Given the description of an element on the screen output the (x, y) to click on. 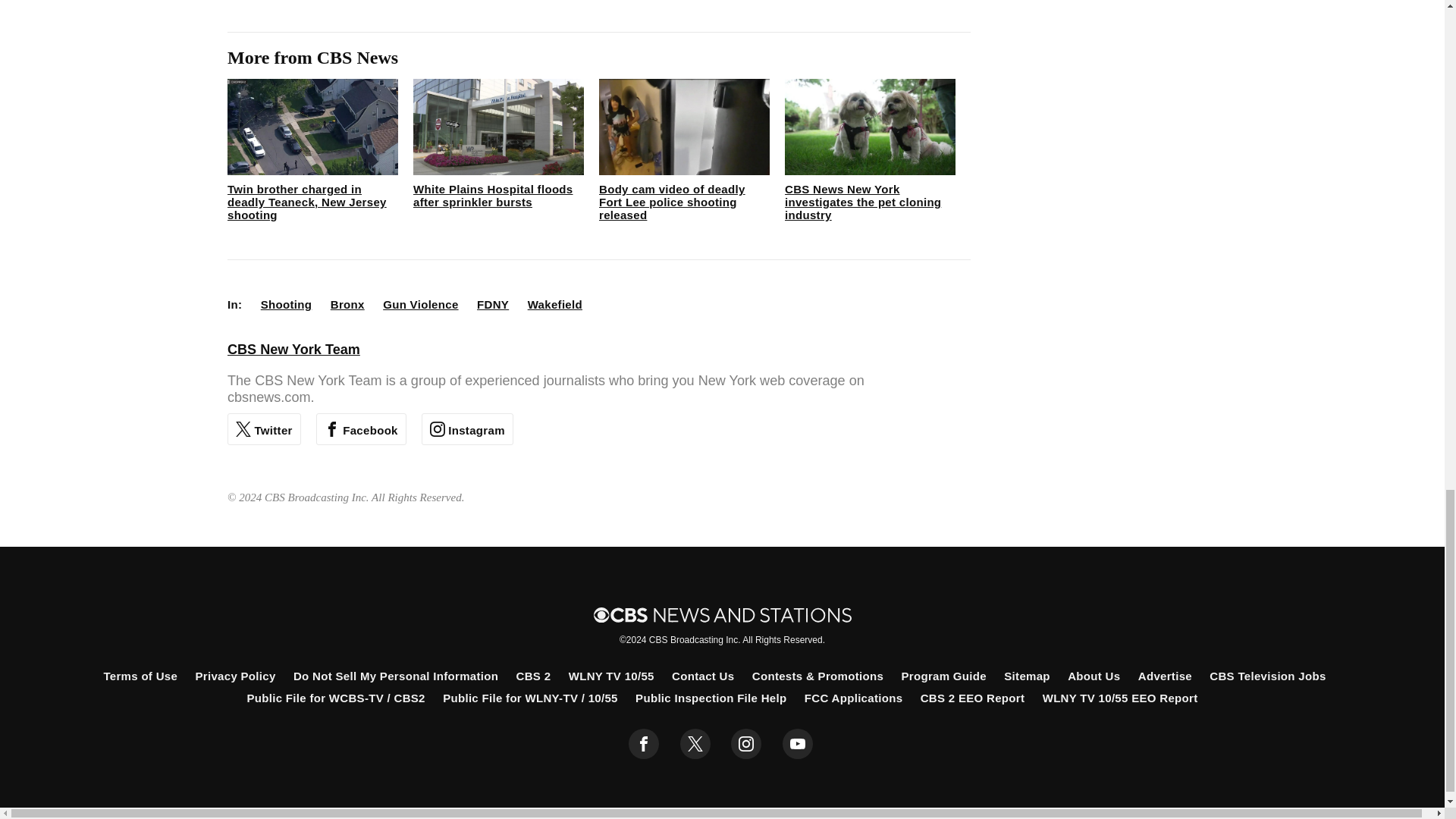
instagram (745, 743)
facebook (643, 743)
youtube (797, 743)
twitter (694, 743)
